Given the description of an element on the screen output the (x, y) to click on. 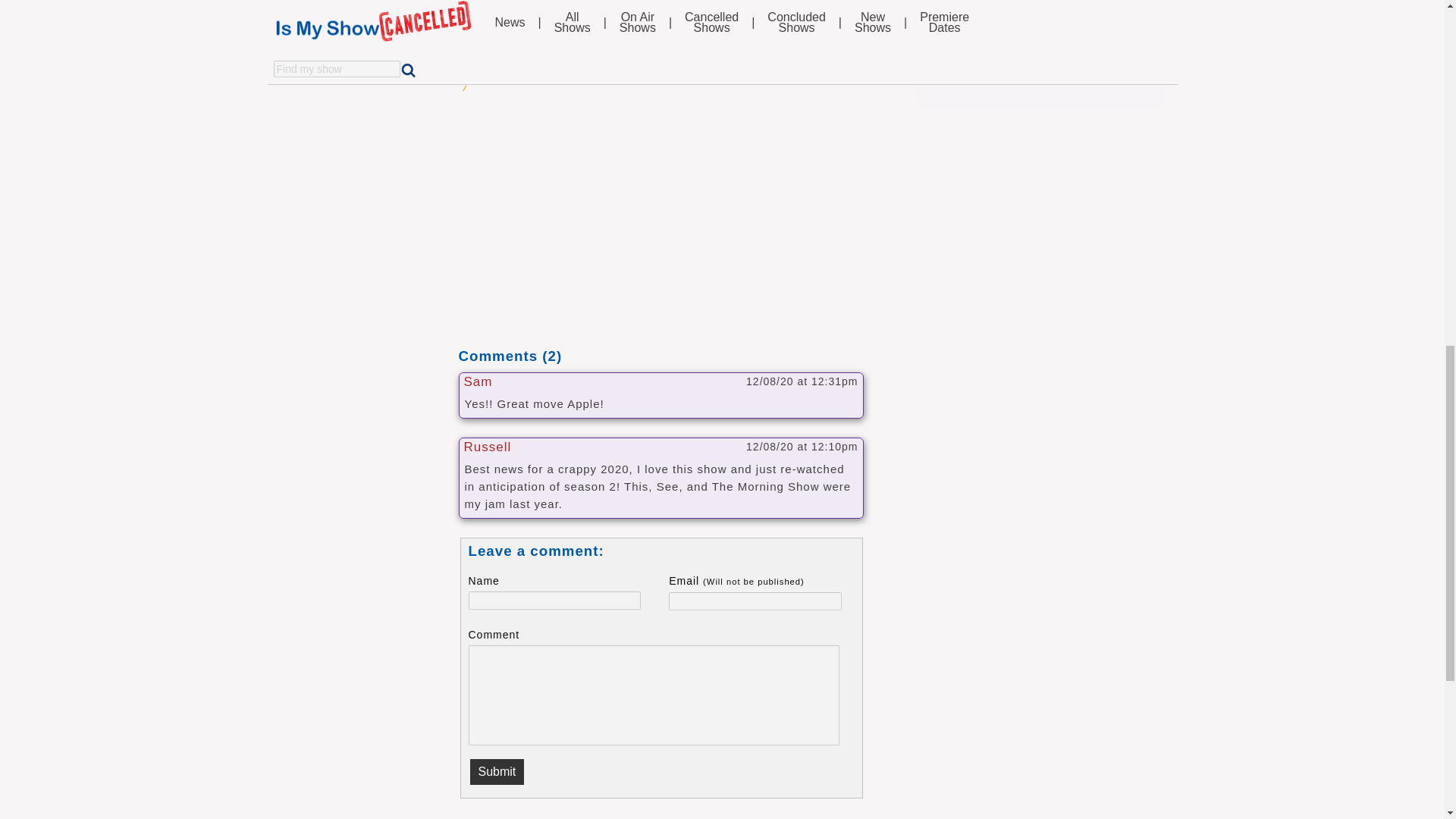
'For All Mankind' Renewed For Season 4 (622, 33)
'For All Mankind' Renewed For Season 5 (622, 11)
Submit (497, 771)
Submit (497, 771)
Advertisement (660, 233)
